Given the description of an element on the screen output the (x, y) to click on. 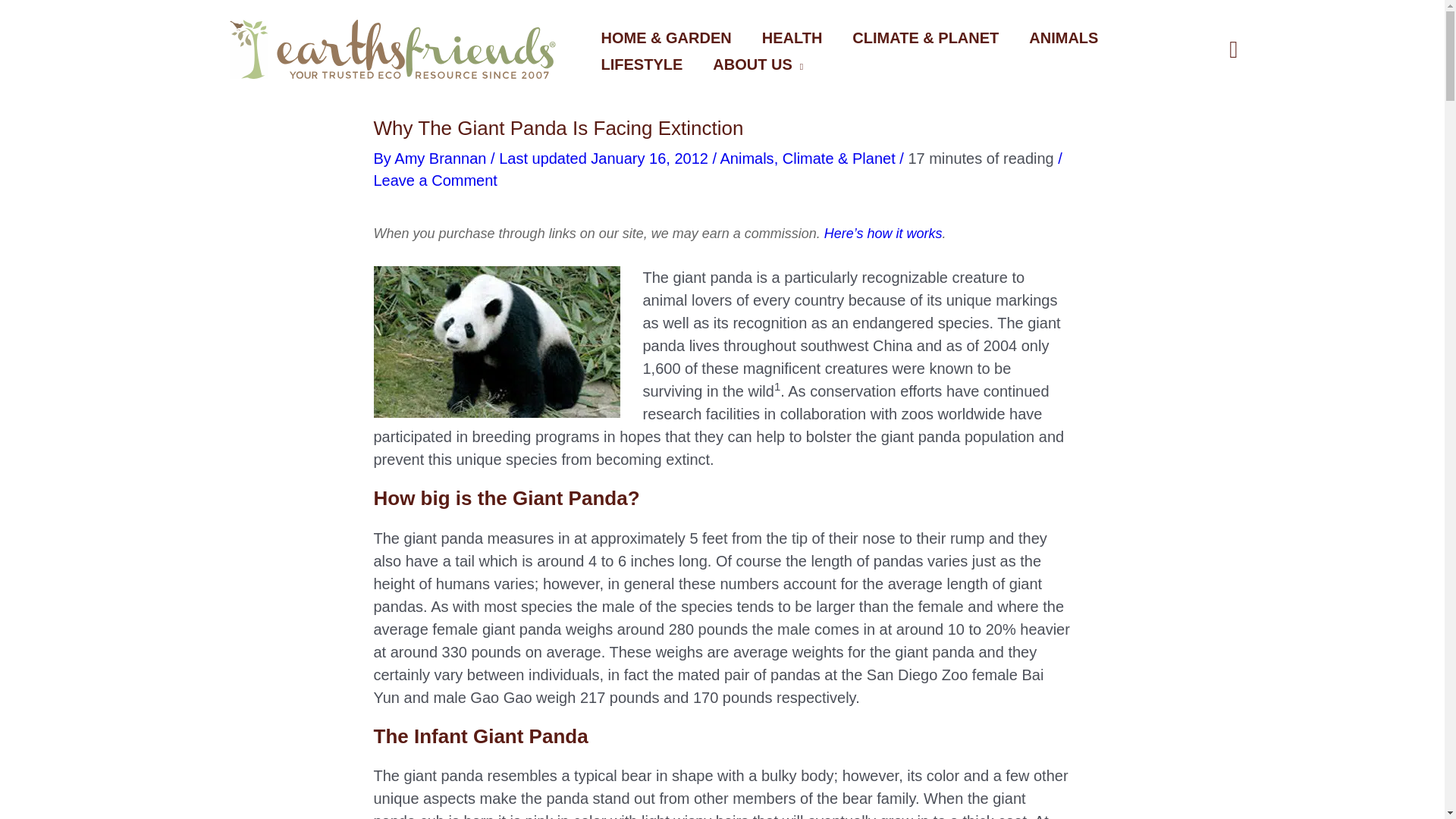
ANIMALS (1071, 39)
Why The Giant Panda Is Facing Extinction  (496, 341)
Amy Brannan (442, 158)
ABOUT US (764, 66)
LIFESTYLE (648, 66)
Animals (746, 158)
Leave a Comment (434, 180)
HEALTH (799, 39)
View all posts by Amy Brannan (442, 158)
